Given the description of an element on the screen output the (x, y) to click on. 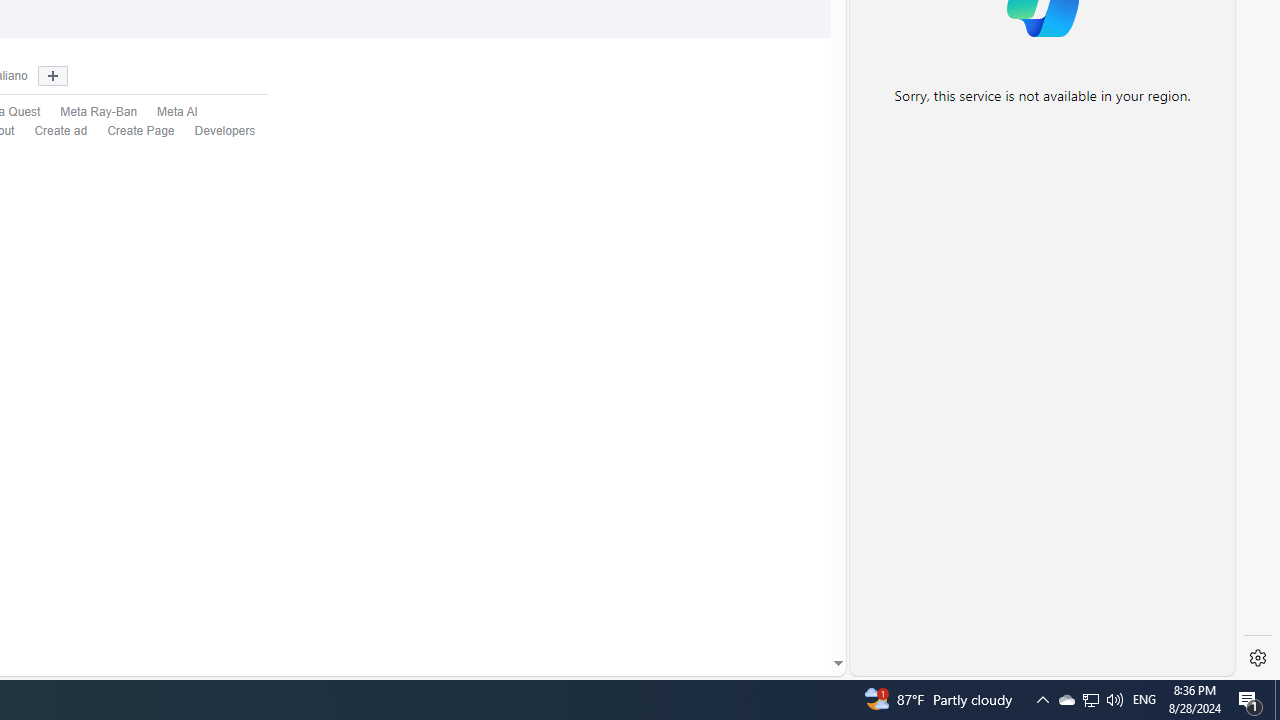
Create ad (51, 131)
Show more languages (52, 76)
Create ad (61, 130)
Meta AI (177, 112)
Developers (225, 130)
Meta Ray-Ban (88, 112)
Create Page (131, 131)
Settings (1258, 658)
Developers (215, 131)
Create Page (141, 130)
Meta AI (167, 112)
Meta Ray-Ban (99, 112)
